Given the description of an element on the screen output the (x, y) to click on. 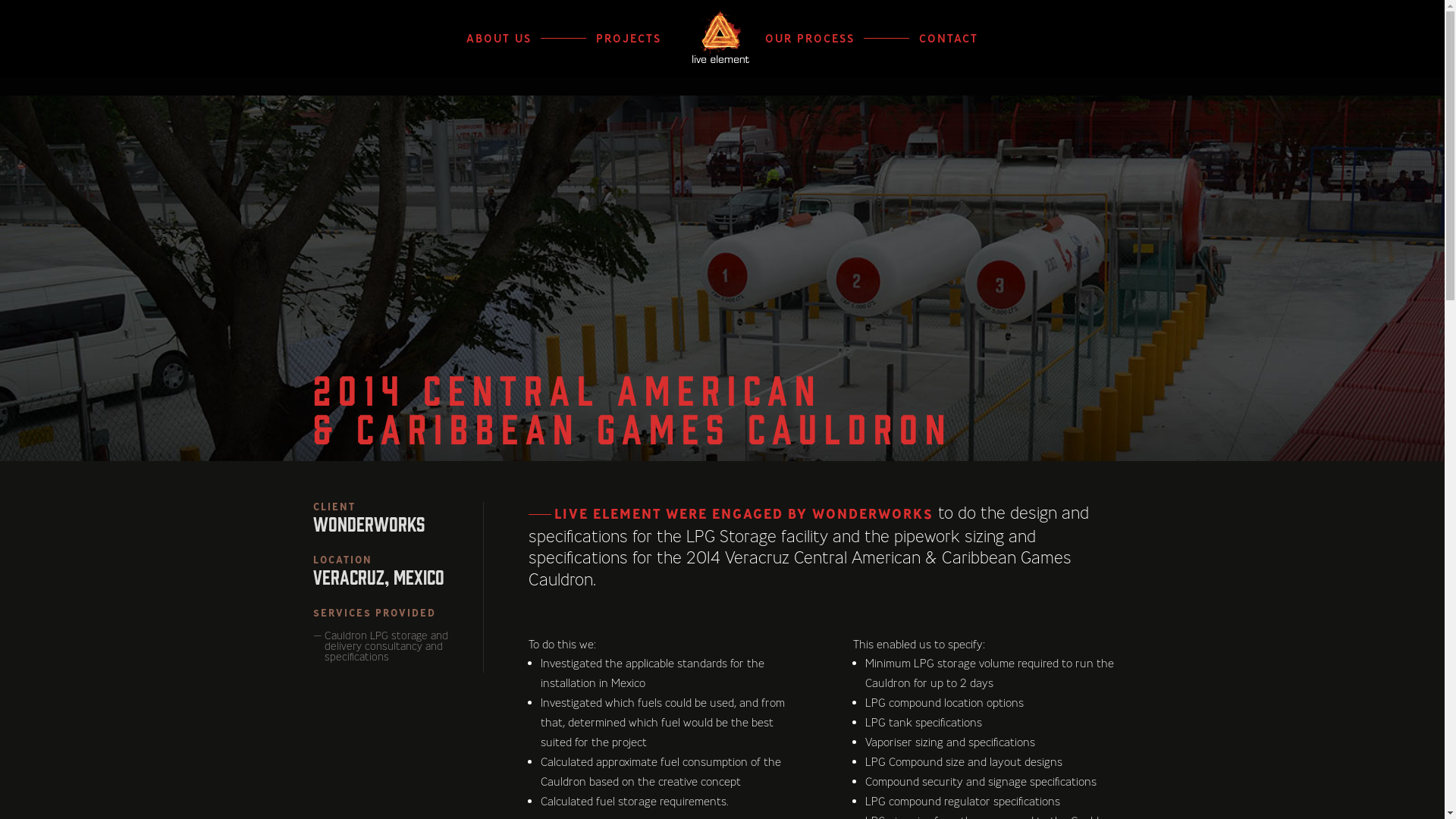
PROJECTS Element type: text (628, 54)
OUR PROCESS Element type: text (809, 54)
CONTACT Element type: text (948, 54)
ABOUT US Element type: text (498, 54)
